Given the description of an element on the screen output the (x, y) to click on. 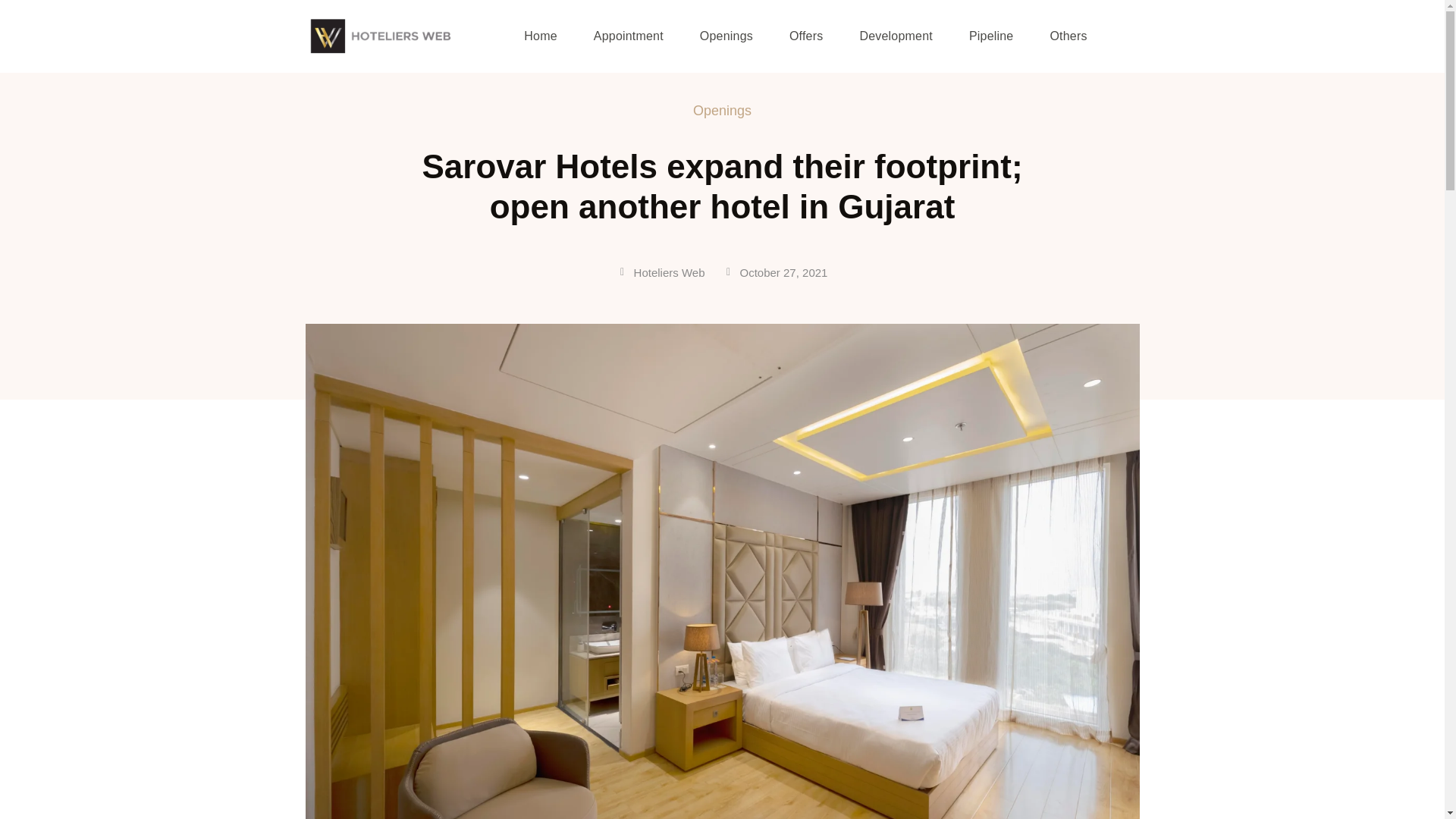
Openings (726, 36)
Home (540, 36)
Development (895, 36)
Pipeline (991, 36)
Offers (805, 36)
Appointment (628, 36)
Others (1068, 36)
